Given the description of an element on the screen output the (x, y) to click on. 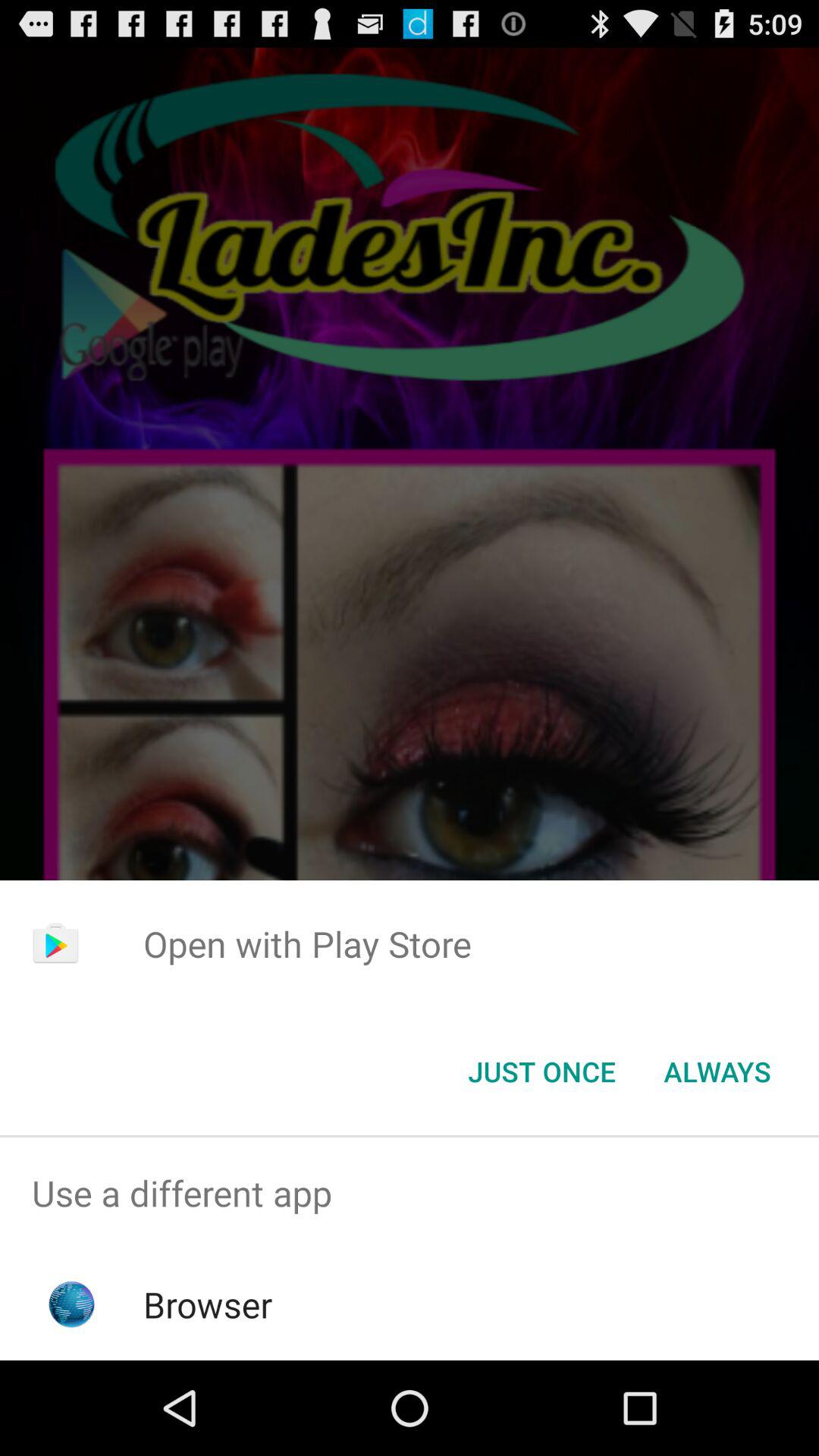
press icon next to the always icon (541, 1071)
